Given the description of an element on the screen output the (x, y) to click on. 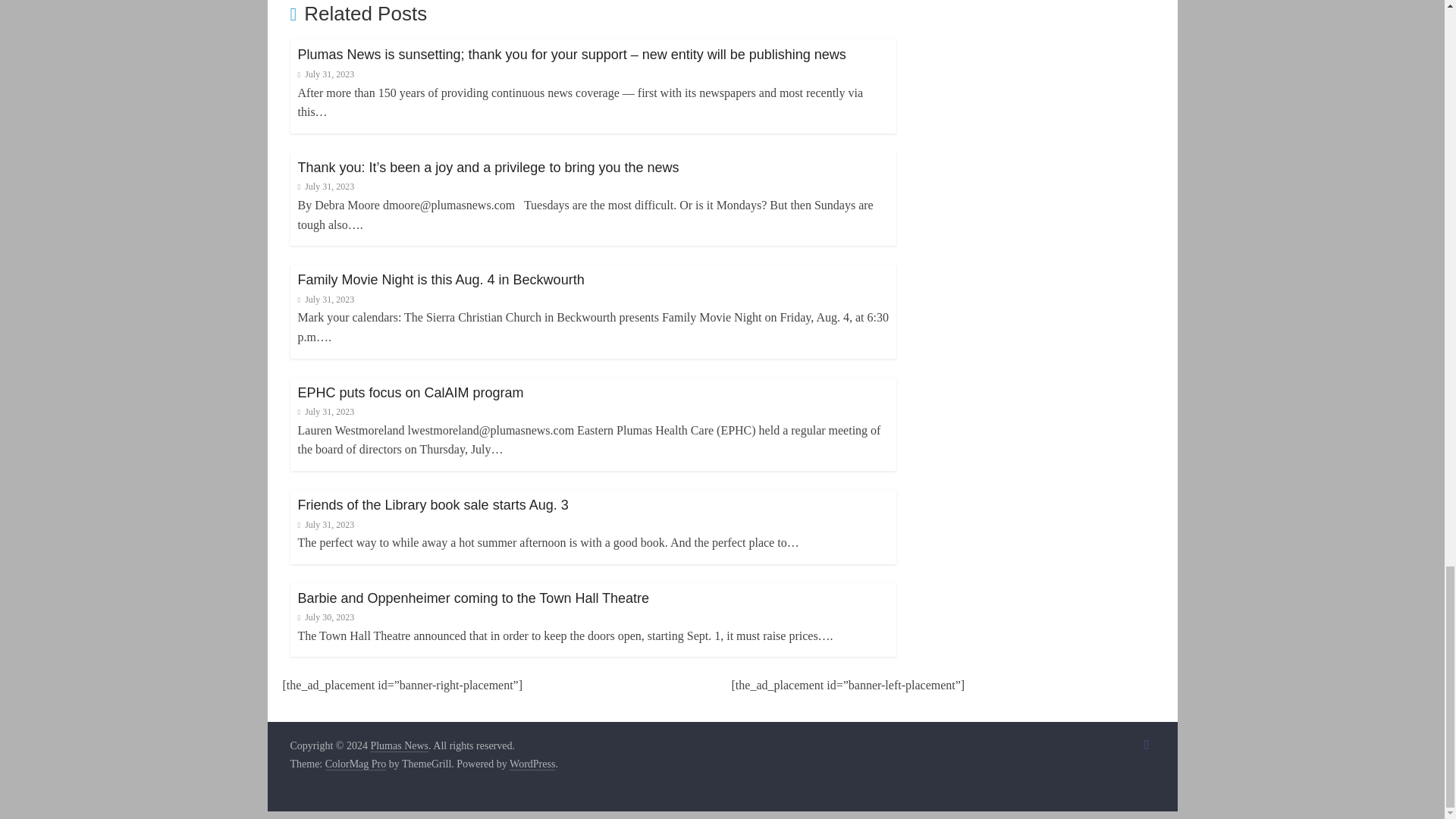
5:07 pm (325, 73)
1:10 pm (325, 185)
